Given the description of an element on the screen output the (x, y) to click on. 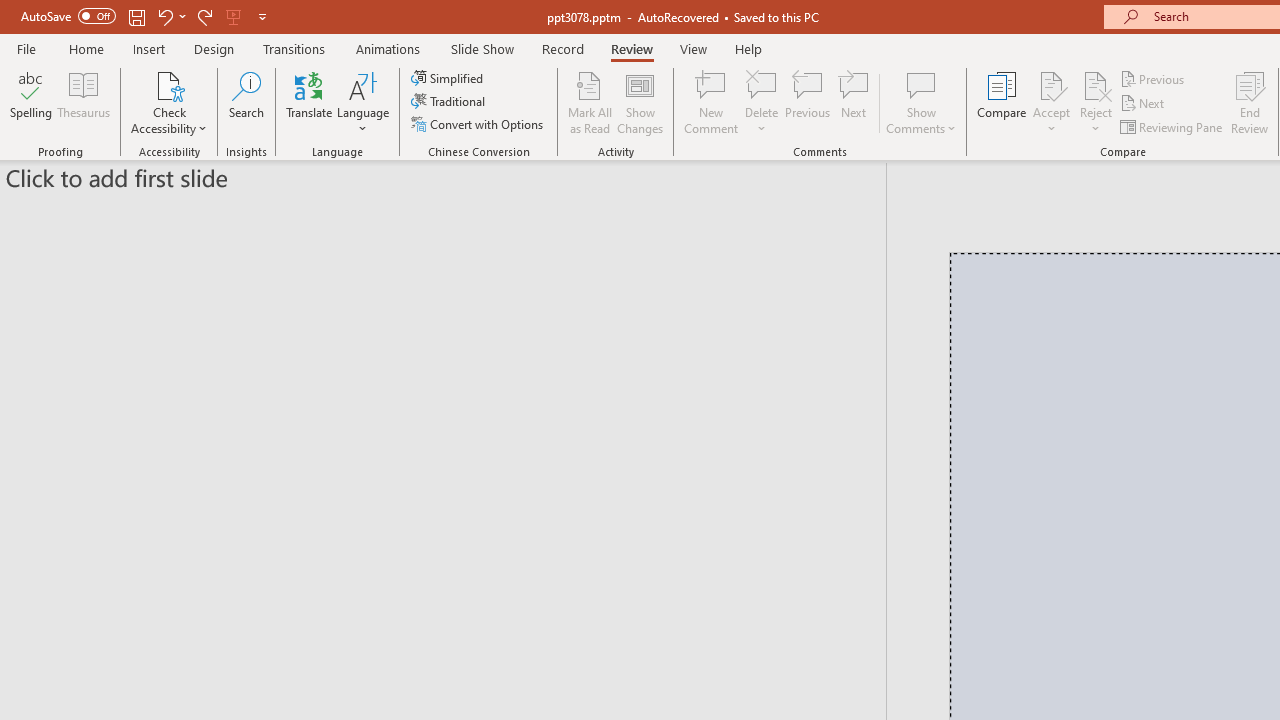
Show Comments (921, 102)
Accept (1051, 102)
Previous (1153, 78)
Next (1144, 103)
Mark All as Read (589, 102)
Convert with Options... (479, 124)
Delete (762, 102)
End Review (1249, 102)
Traditional (449, 101)
Language (363, 102)
